Given the description of an element on the screen output the (x, y) to click on. 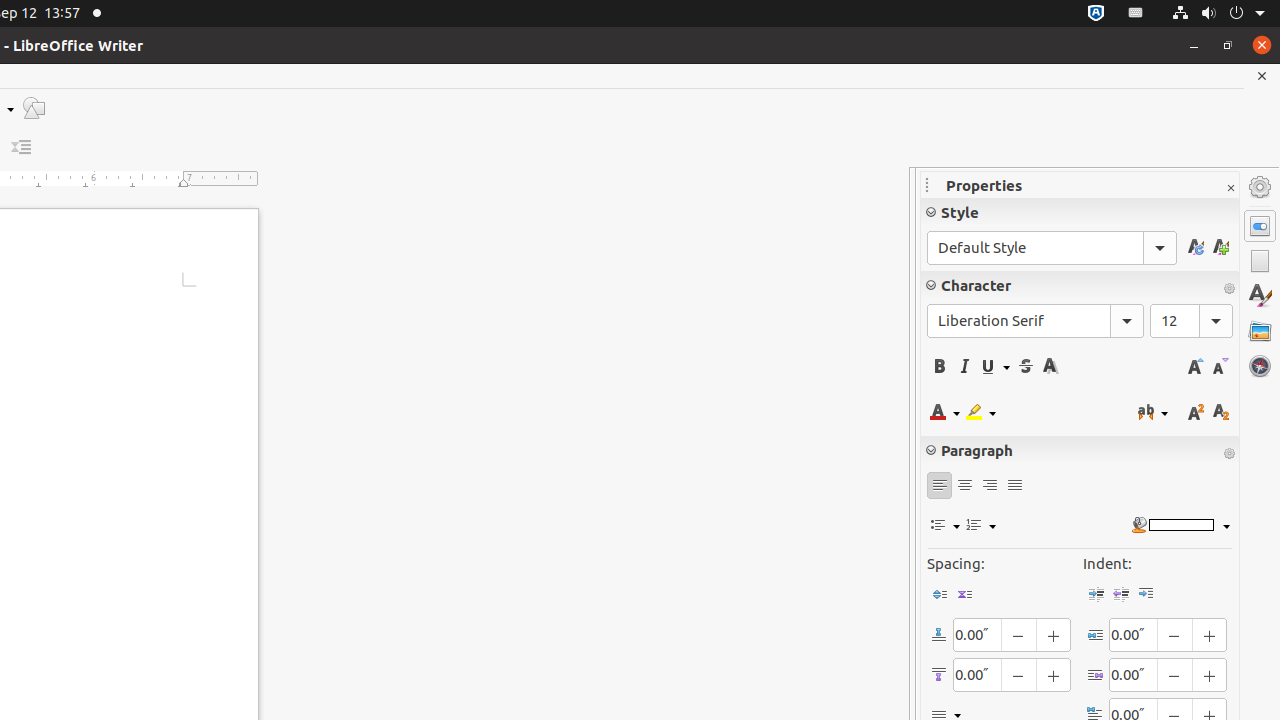
Properties Element type: radio-button (1260, 226)
More Options Element type: push-button (1229, 454)
Styles Element type: radio-button (1260, 296)
Shadow Element type: toggle-button (1050, 366)
System Element type: menu (1218, 13)
